Given the description of an element on the screen output the (x, y) to click on. 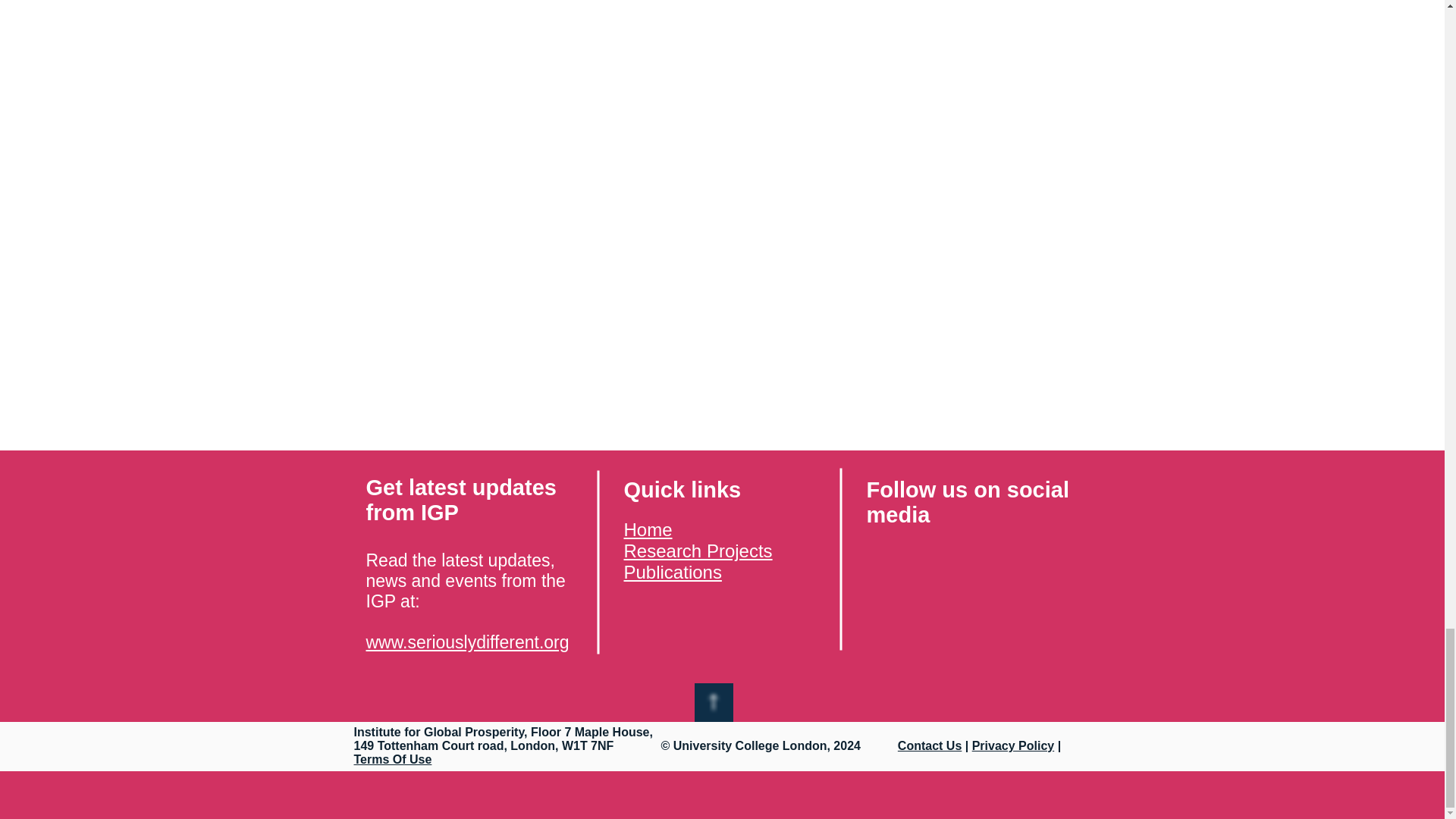
Publications (671, 571)
www.seriouslydifferent.org (467, 641)
Research Projects (697, 550)
Home (647, 529)
